Given the description of an element on the screen output the (x, y) to click on. 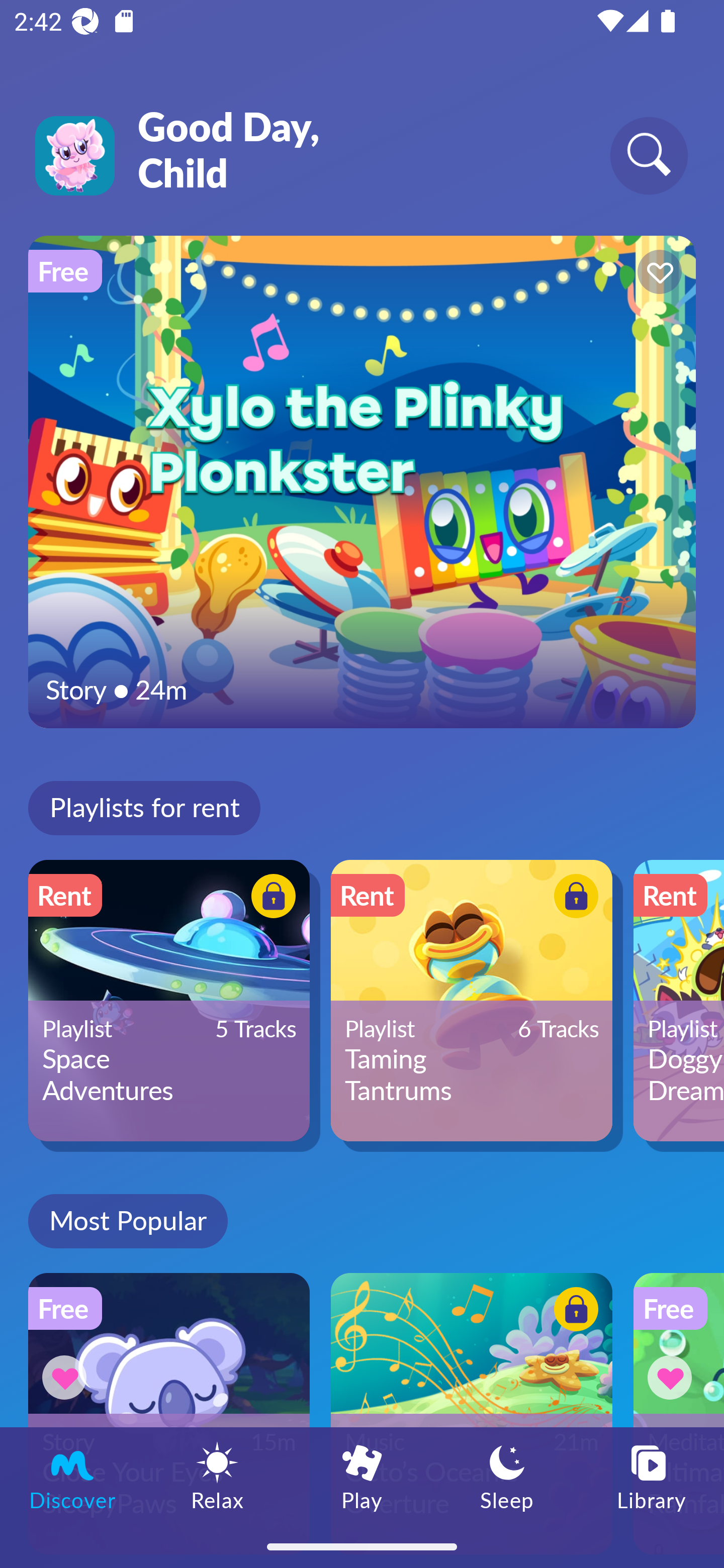
Search (648, 154)
Featured Content Free Button Story ● 24m (361, 481)
Button (656, 274)
Button (269, 898)
Button (573, 898)
Button (573, 1312)
Button (67, 1377)
Button (672, 1377)
Relax (216, 1475)
Play (361, 1475)
Sleep (506, 1475)
Library (651, 1475)
